Given the description of an element on the screen output the (x, y) to click on. 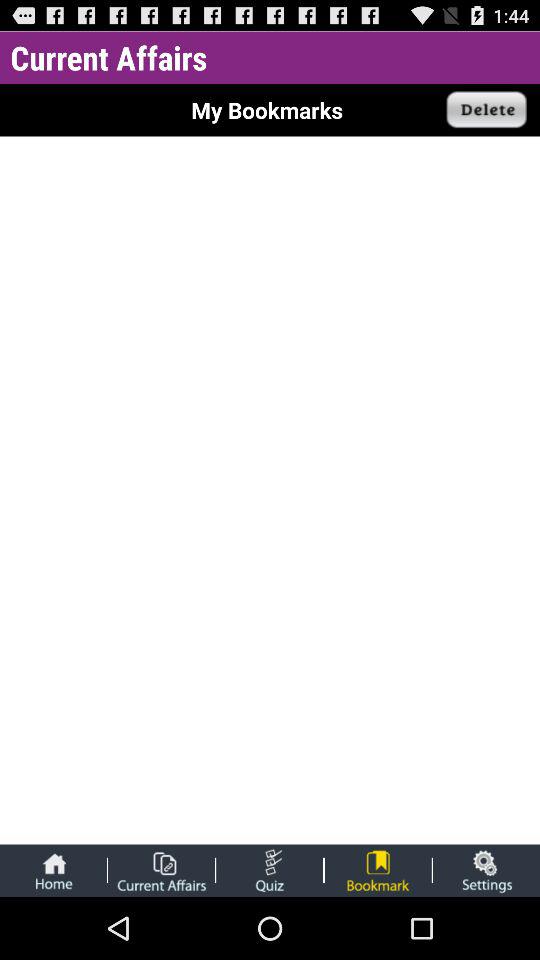
current articles occurring (161, 870)
